Given the description of an element on the screen output the (x, y) to click on. 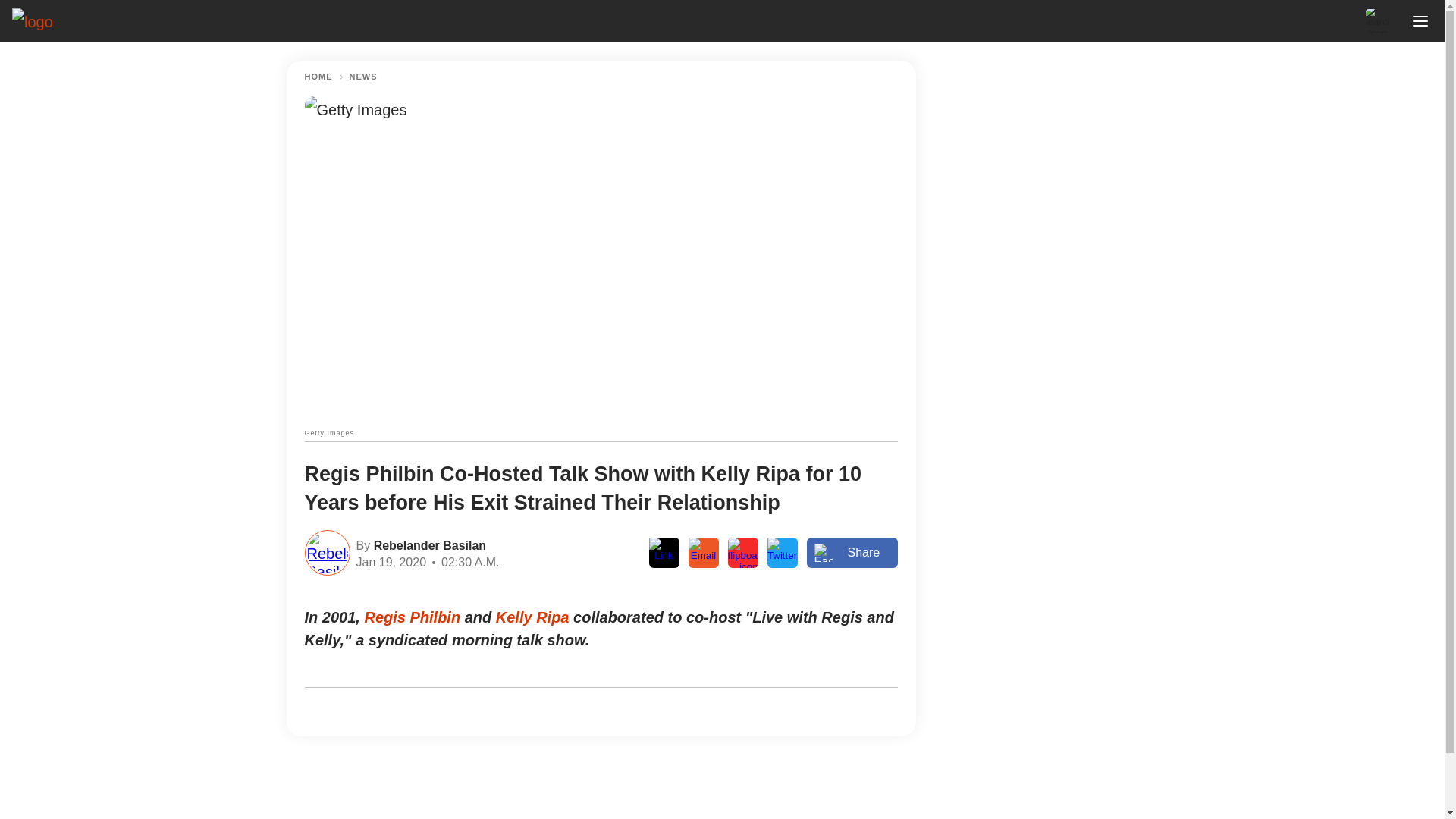
Rebelander Basilan (427, 544)
HOME (318, 76)
NEWS (363, 76)
